Given the description of an element on the screen output the (x, y) to click on. 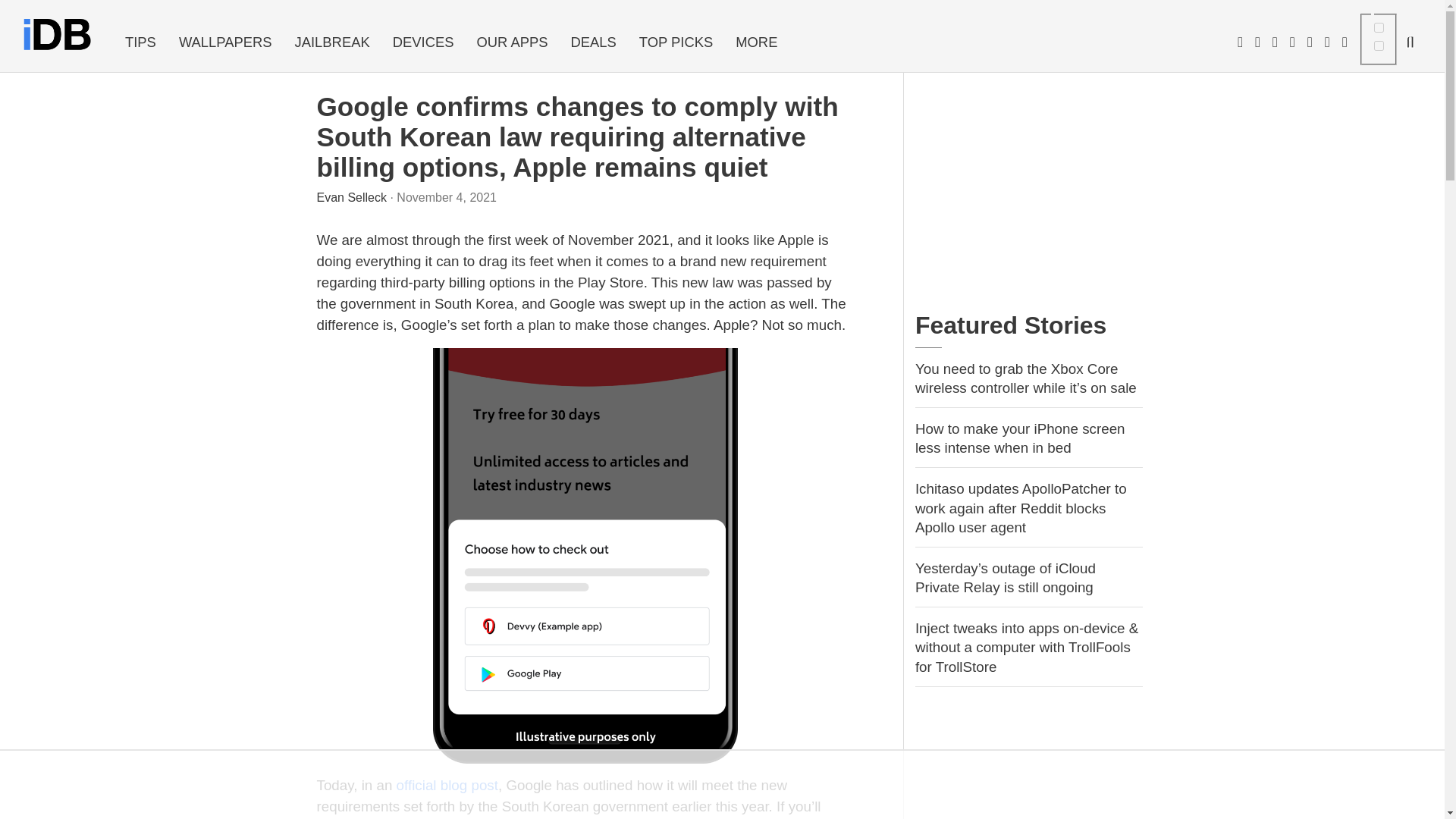
Wallpapers (225, 42)
OUR APPS (511, 42)
Tips (140, 42)
TIPS (140, 42)
WALLPAPERS (225, 42)
DEVICES (423, 42)
JAILBREAK (332, 42)
